Given the description of an element on the screen output the (x, y) to click on. 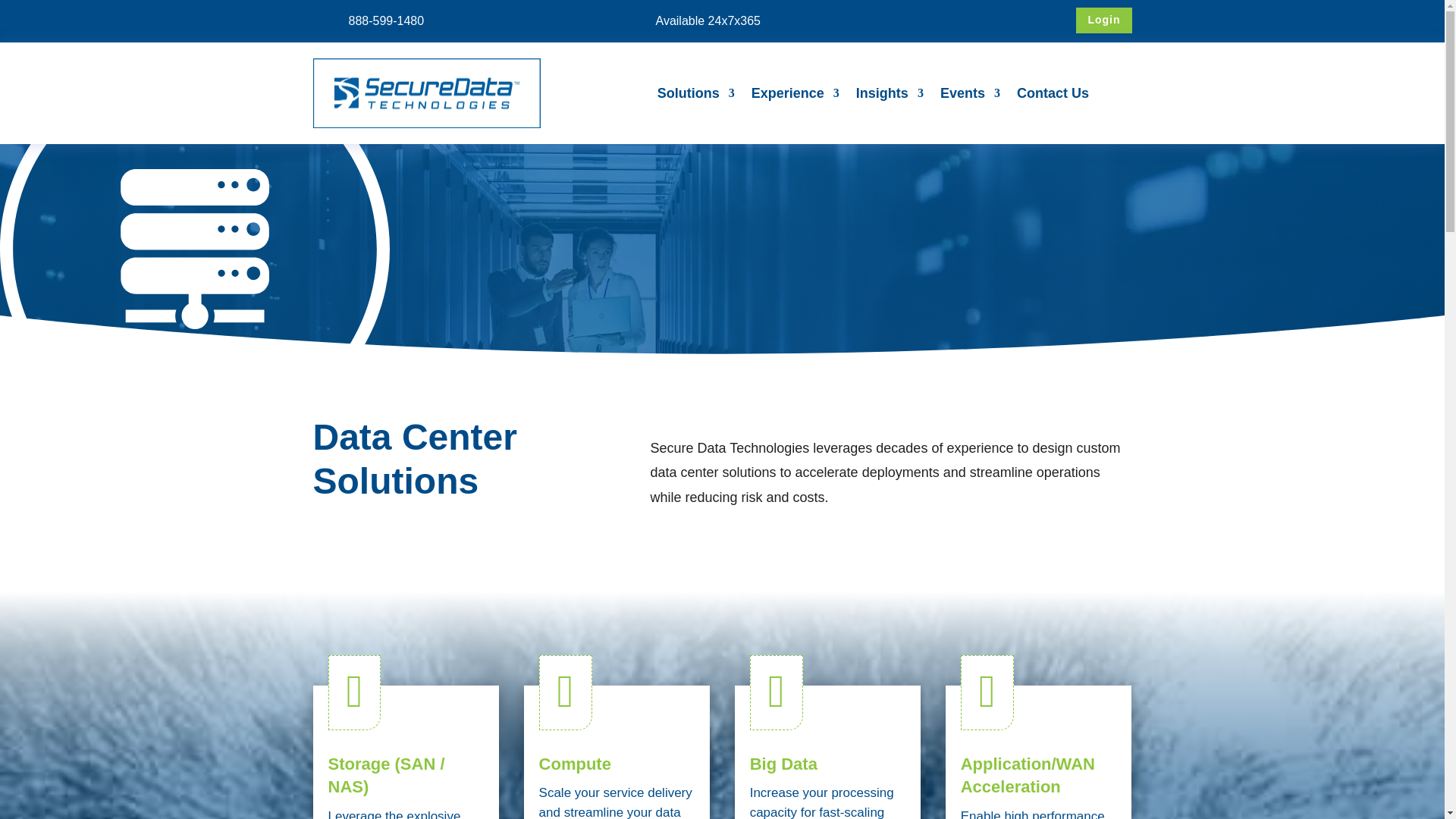
Events (970, 95)
Login (1103, 20)
Experience (795, 95)
Contact Us (1052, 95)
Insights (889, 95)
888-599-1480 (387, 20)
Solutions (696, 95)
